Given the description of an element on the screen output the (x, y) to click on. 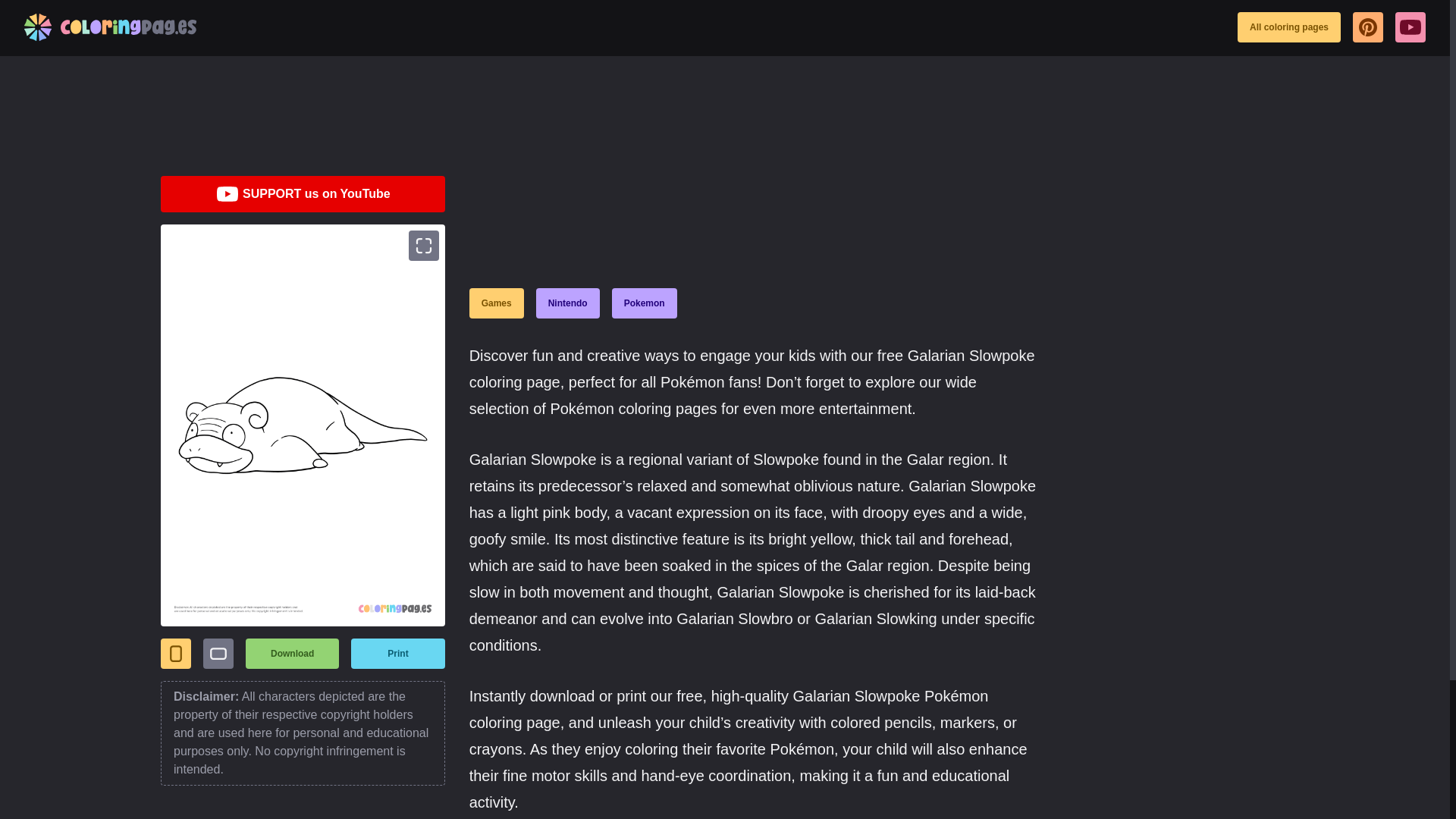
Download (292, 653)
Nintendo (567, 303)
All coloring pages (1288, 27)
SUPPORT us on YouTube (302, 194)
Games (496, 303)
Pokemon (644, 303)
